Given the description of an element on the screen output the (x, y) to click on. 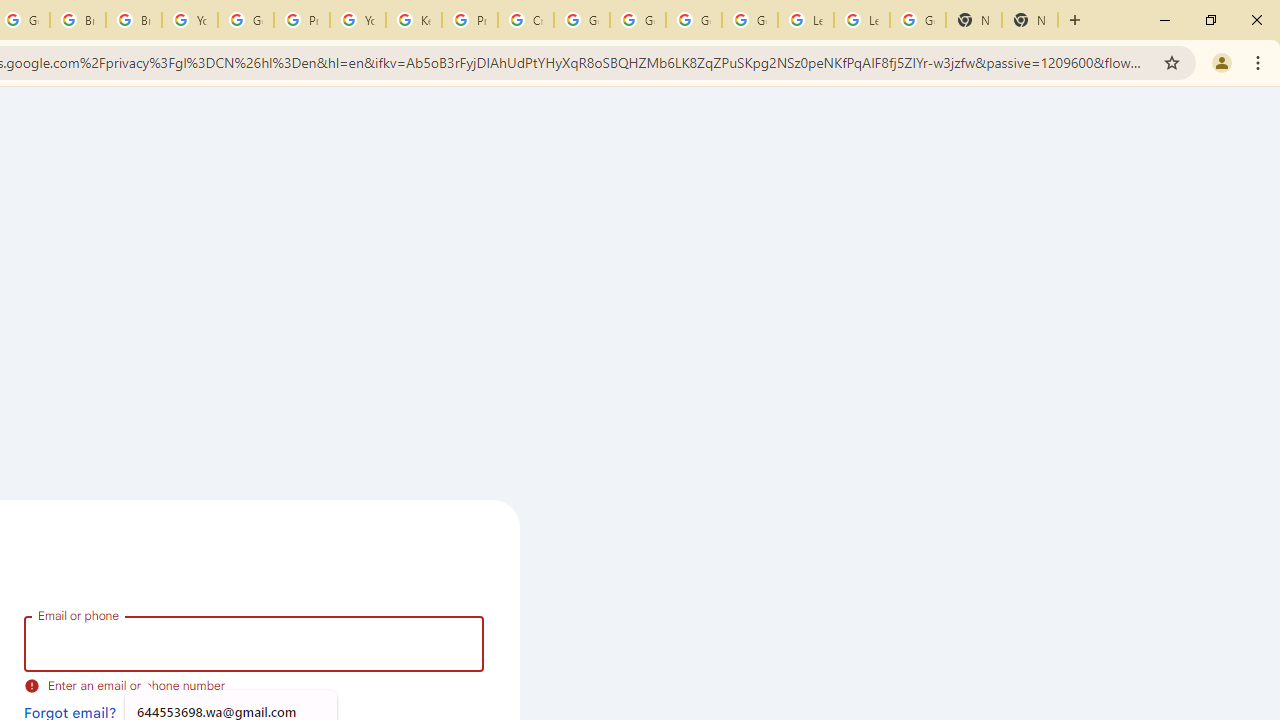
Google Account Help (693, 20)
YouTube (189, 20)
New Tab (973, 20)
Google Account Help (245, 20)
Google Account Help (637, 20)
Brand Resource Center (77, 20)
